Given the description of an element on the screen output the (x, y) to click on. 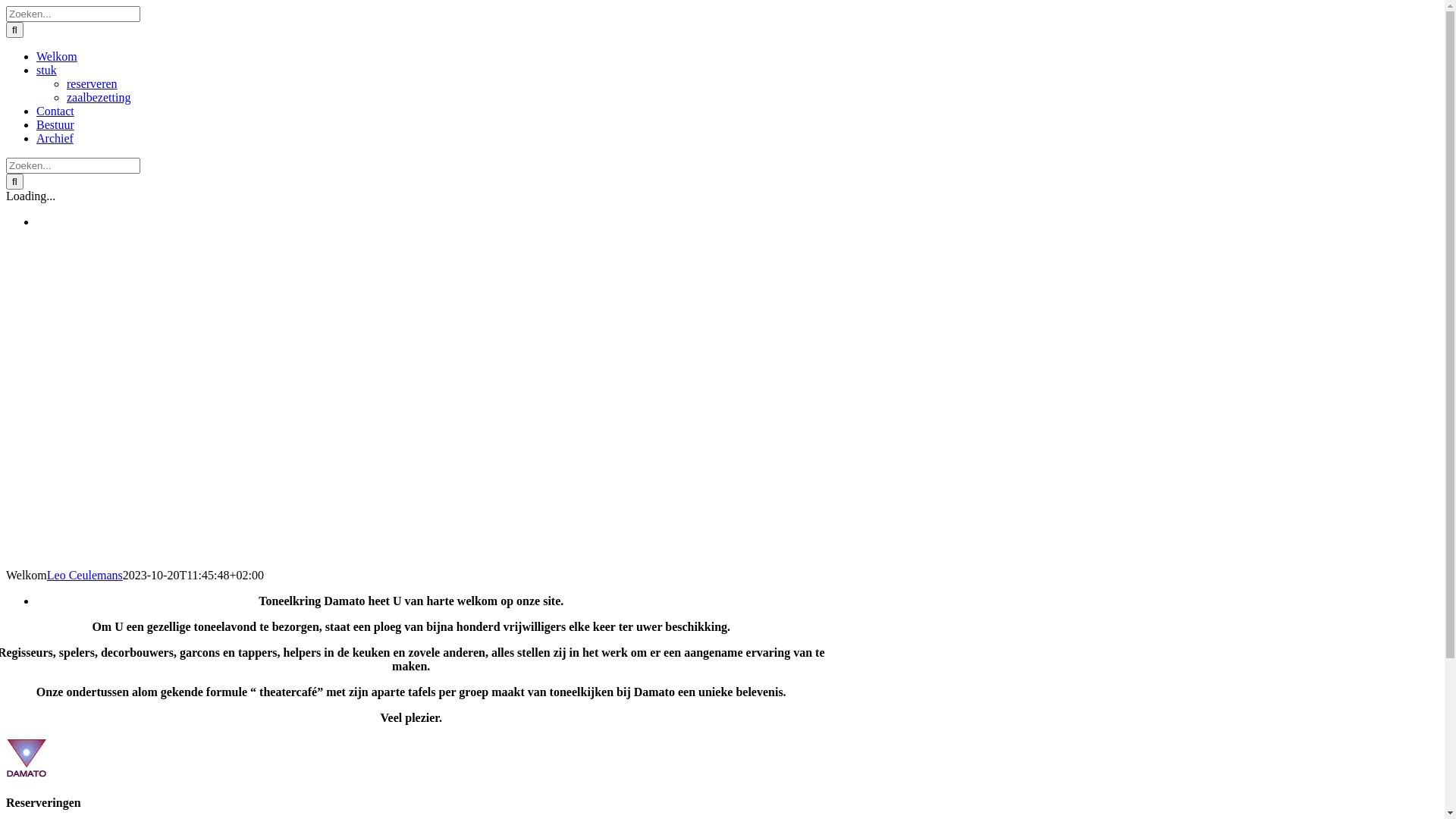
zaalbezetting Element type: text (98, 97)
Welkom Element type: text (56, 56)
Skip to content Element type: text (5, 5)
reserveren Element type: text (91, 83)
Contact Element type: text (55, 110)
Leo Ceulemans Element type: text (84, 574)
Bestuur Element type: text (55, 124)
stuk Element type: text (46, 69)
Archief Element type: text (54, 137)
